Given the description of an element on the screen output the (x, y) to click on. 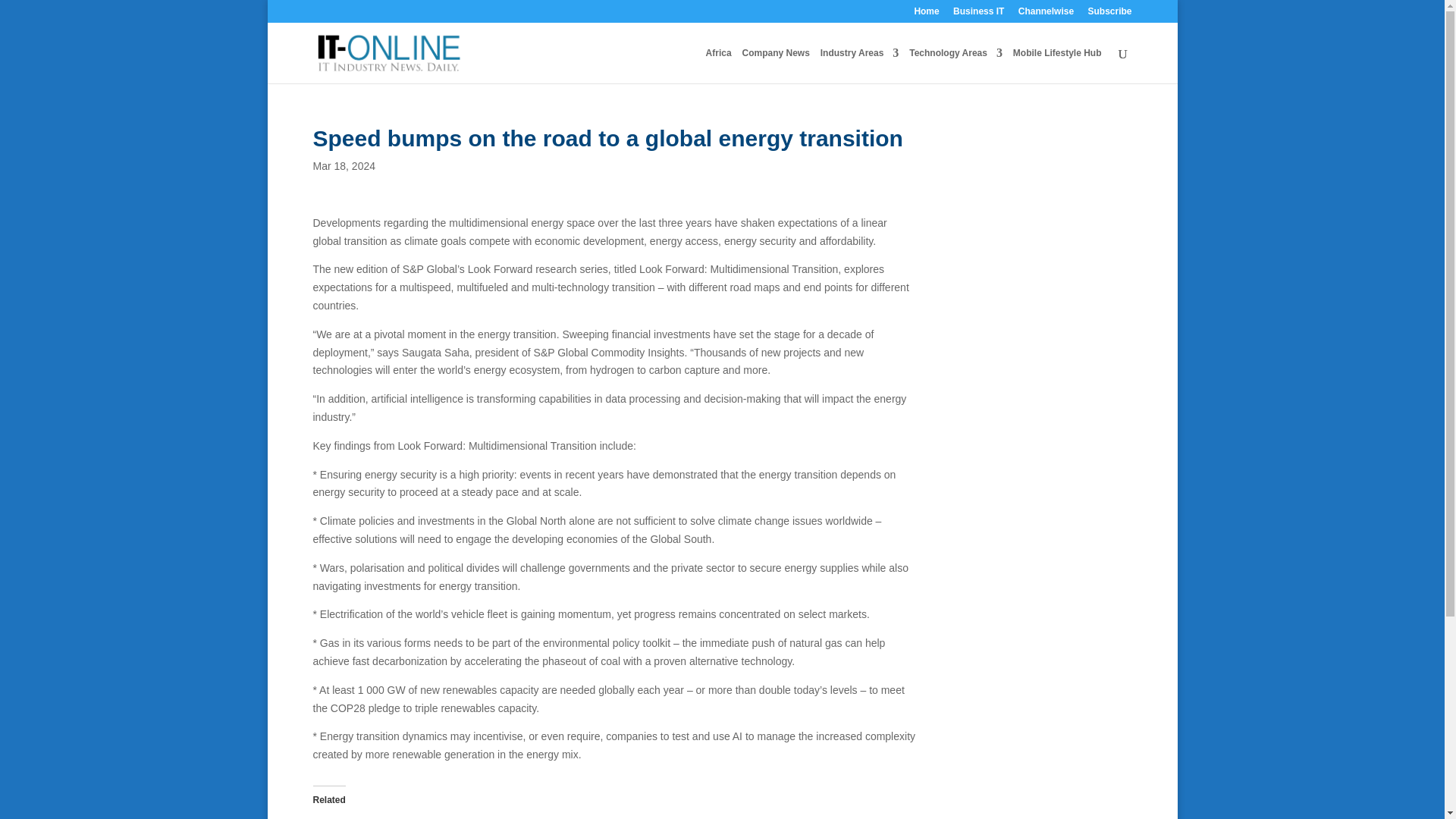
Subscribe (1109, 14)
Business IT (978, 14)
Channelwise (1045, 14)
Home (926, 14)
Technology Areas (955, 65)
Company News (775, 65)
Industry Areas (860, 65)
